Given the description of an element on the screen output the (x, y) to click on. 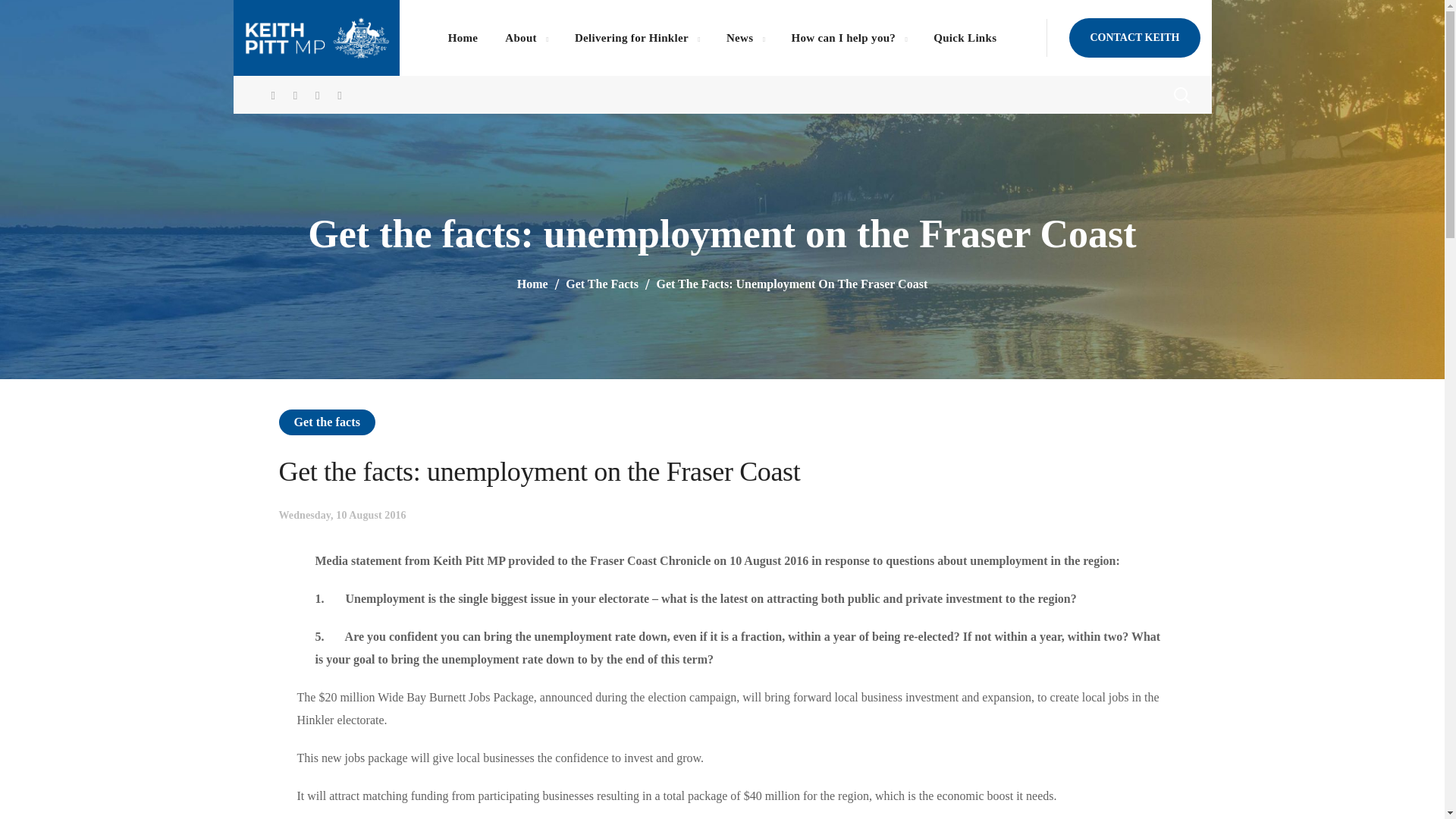
CONTACT KEITH (1133, 37)
Delivering for Hinkler (636, 38)
How can I help you? (848, 38)
Search (1141, 151)
Quick Links (965, 38)
About (526, 38)
